Given the description of an element on the screen output the (x, y) to click on. 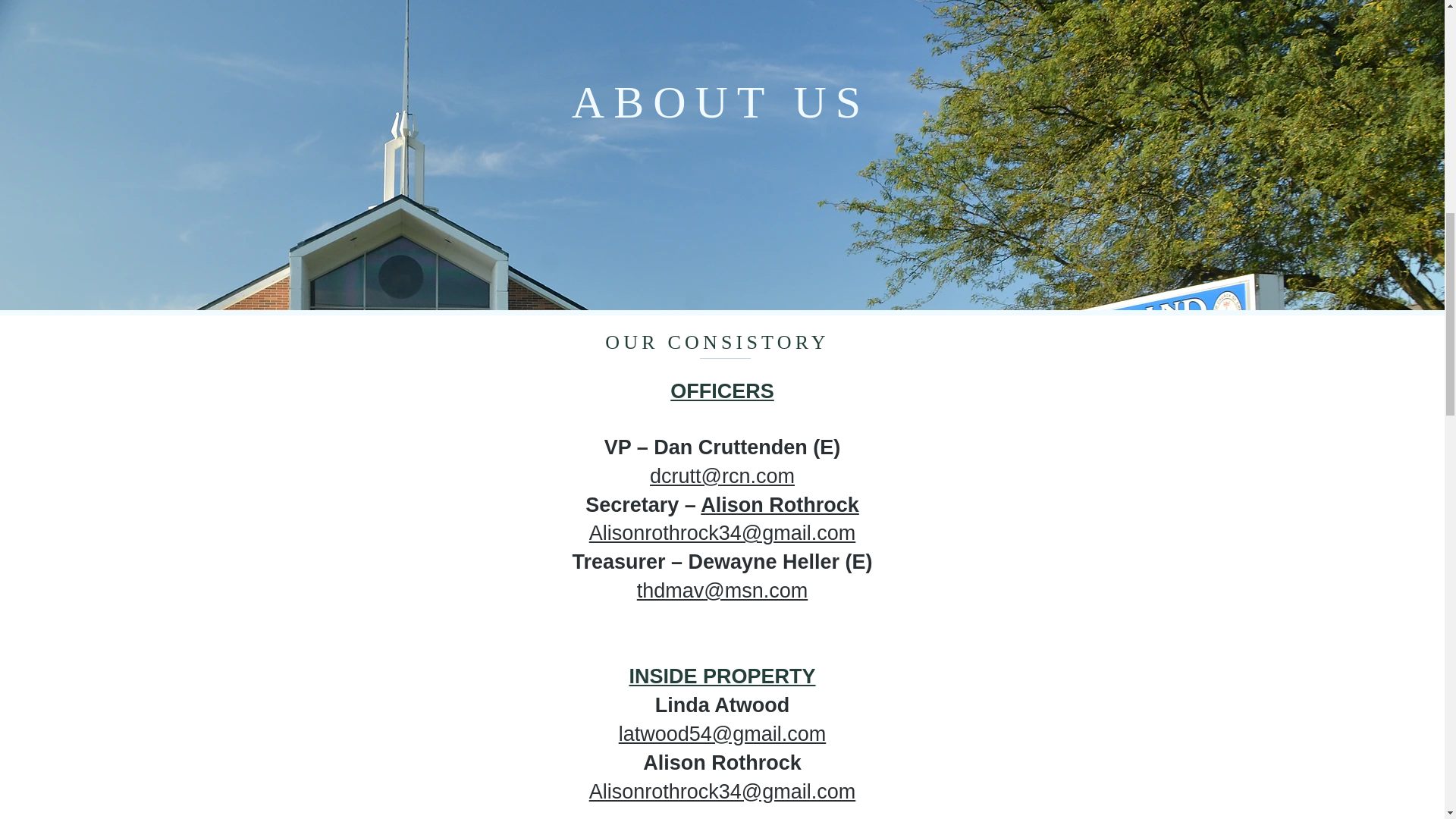
Alison Rothrock (779, 504)
Alison Rothrock (722, 762)
Linda Atwood (722, 704)
